Given the description of an element on the screen output the (x, y) to click on. 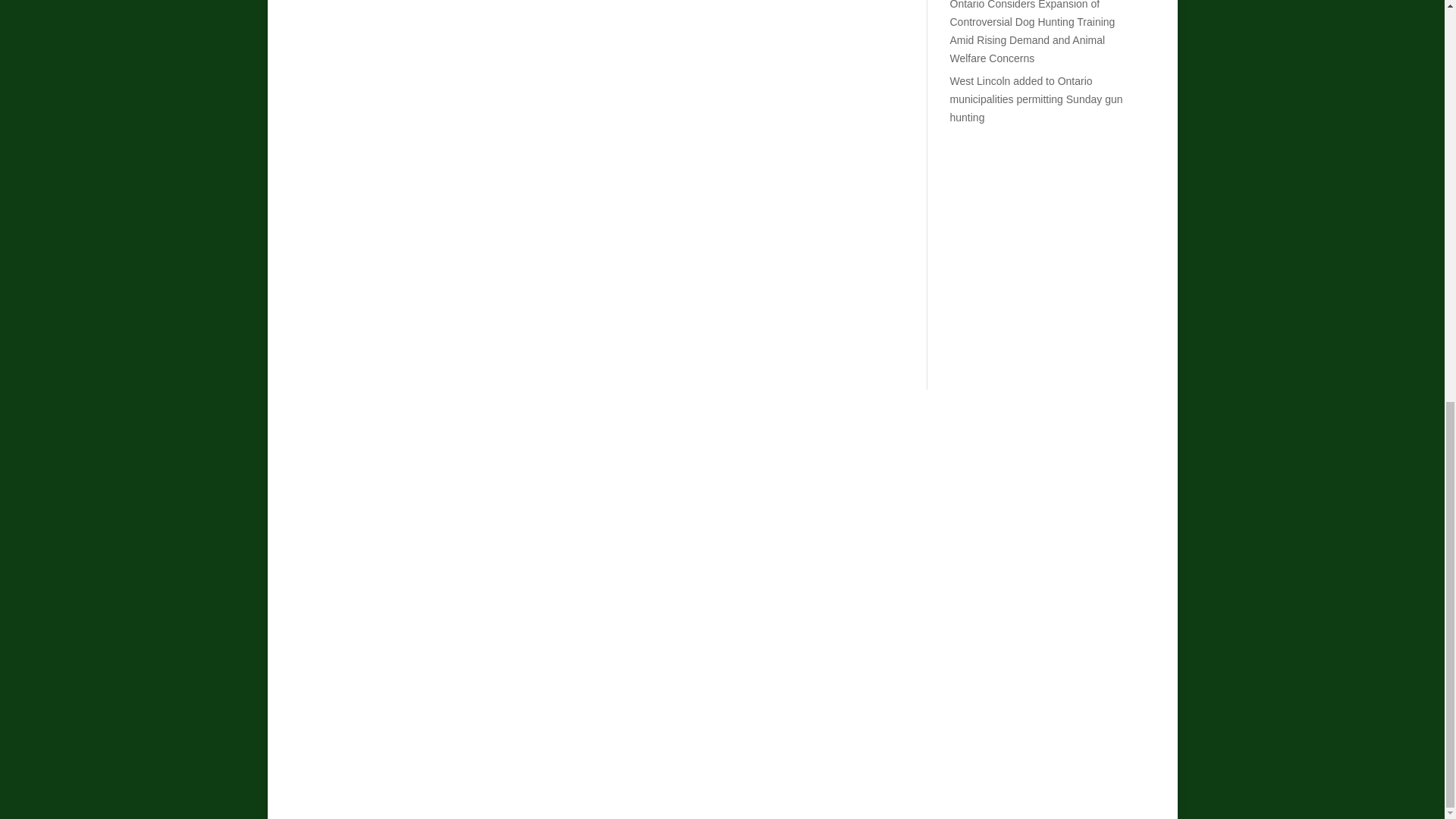
Advertisement (1043, 244)
